Given the description of an element on the screen output the (x, y) to click on. 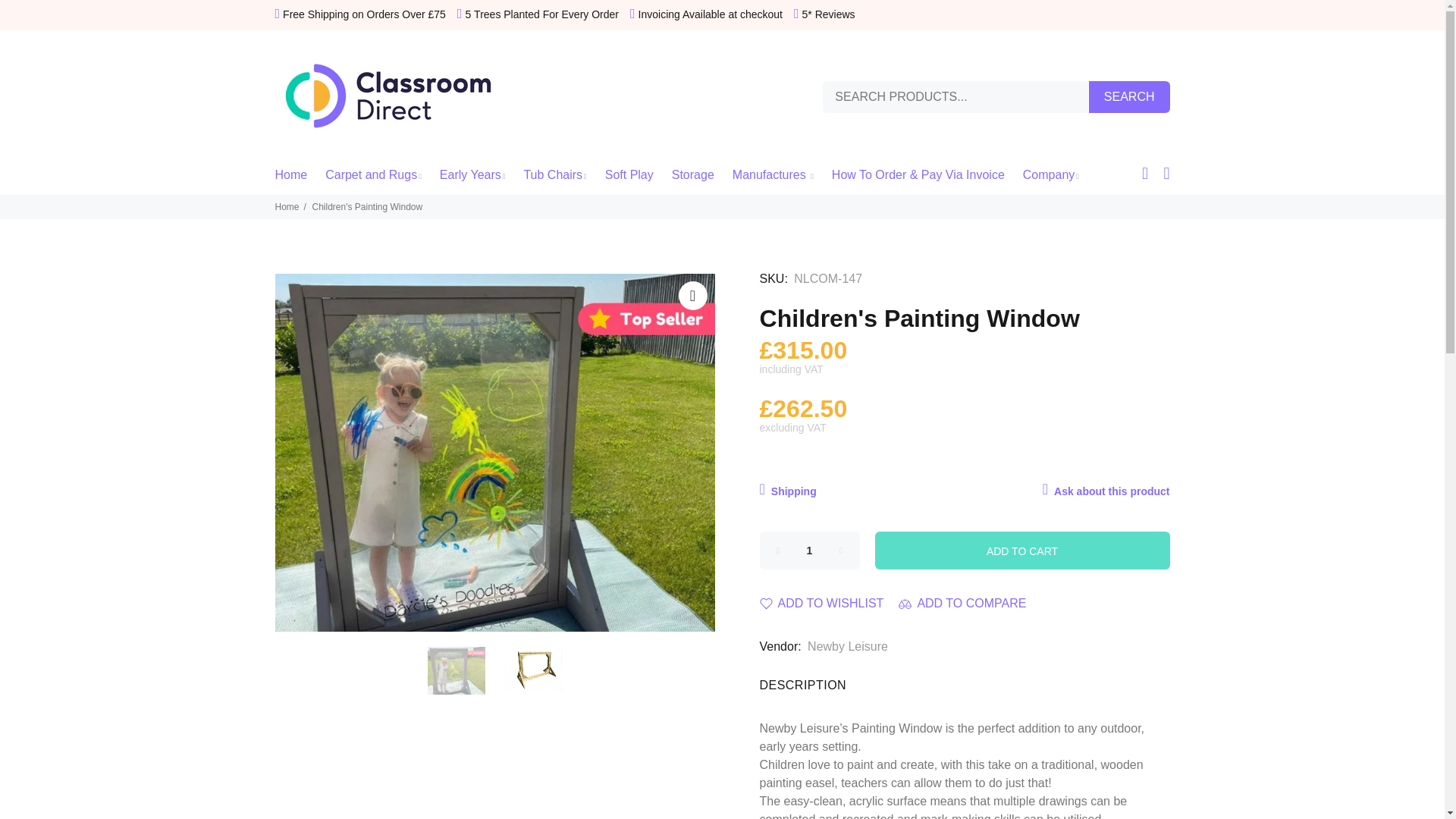
1 (810, 550)
